Given the description of an element on the screen output the (x, y) to click on. 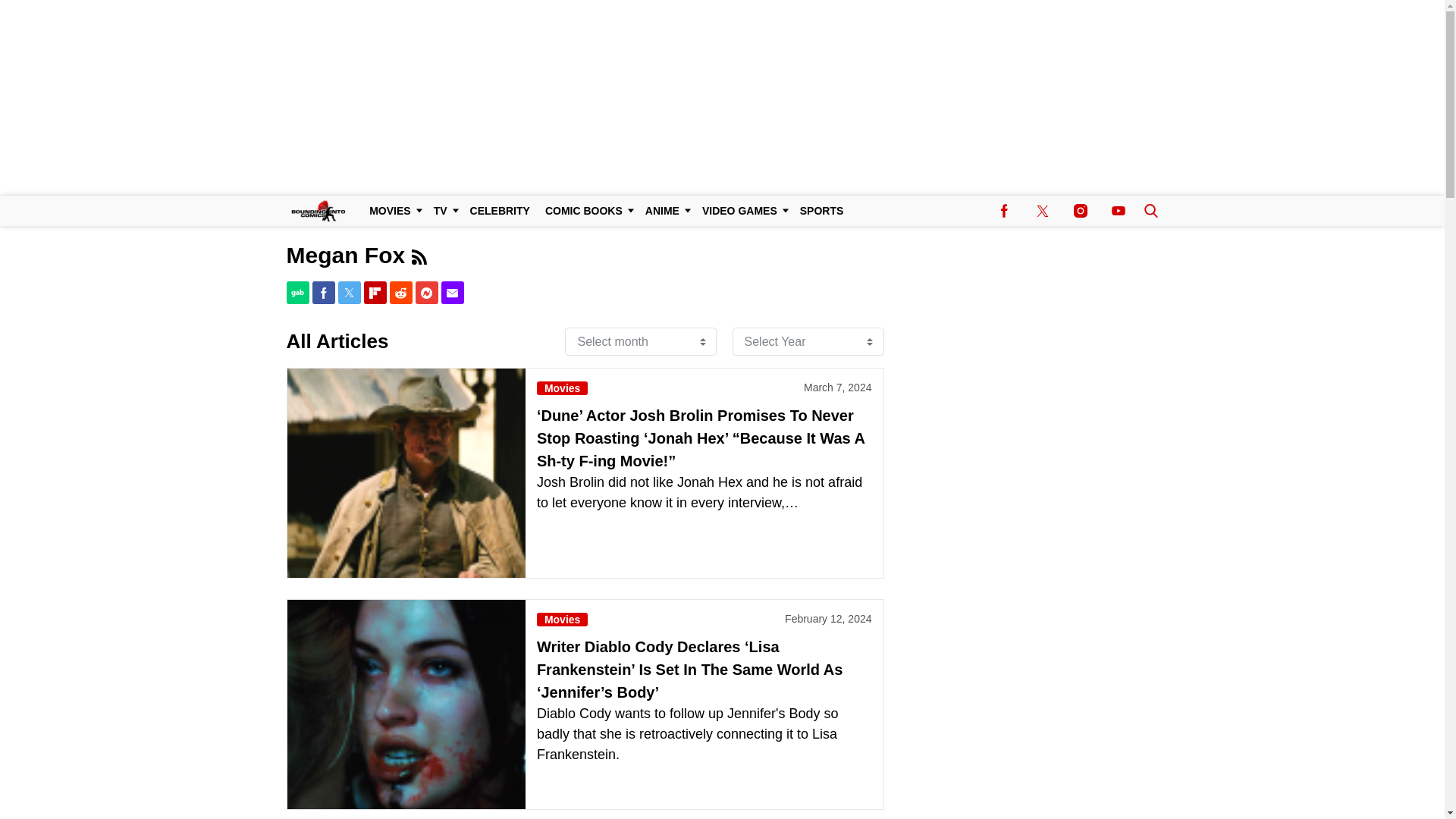
Subscribe to our YouTube channel (1118, 210)
TV (444, 210)
Share on Reddit (401, 292)
Share on Gab (297, 292)
VIDEO GAMES (743, 210)
SPORTS (821, 210)
Share on Flipboard (375, 292)
Group (419, 254)
Follow us on Twitter (1042, 210)
CELEBRITY (500, 210)
Follow us on Facebook (1004, 210)
ANIME (665, 210)
Group (419, 256)
Share on News Break (426, 292)
Share on Twitter (349, 292)
